Given the description of an element on the screen output the (x, y) to click on. 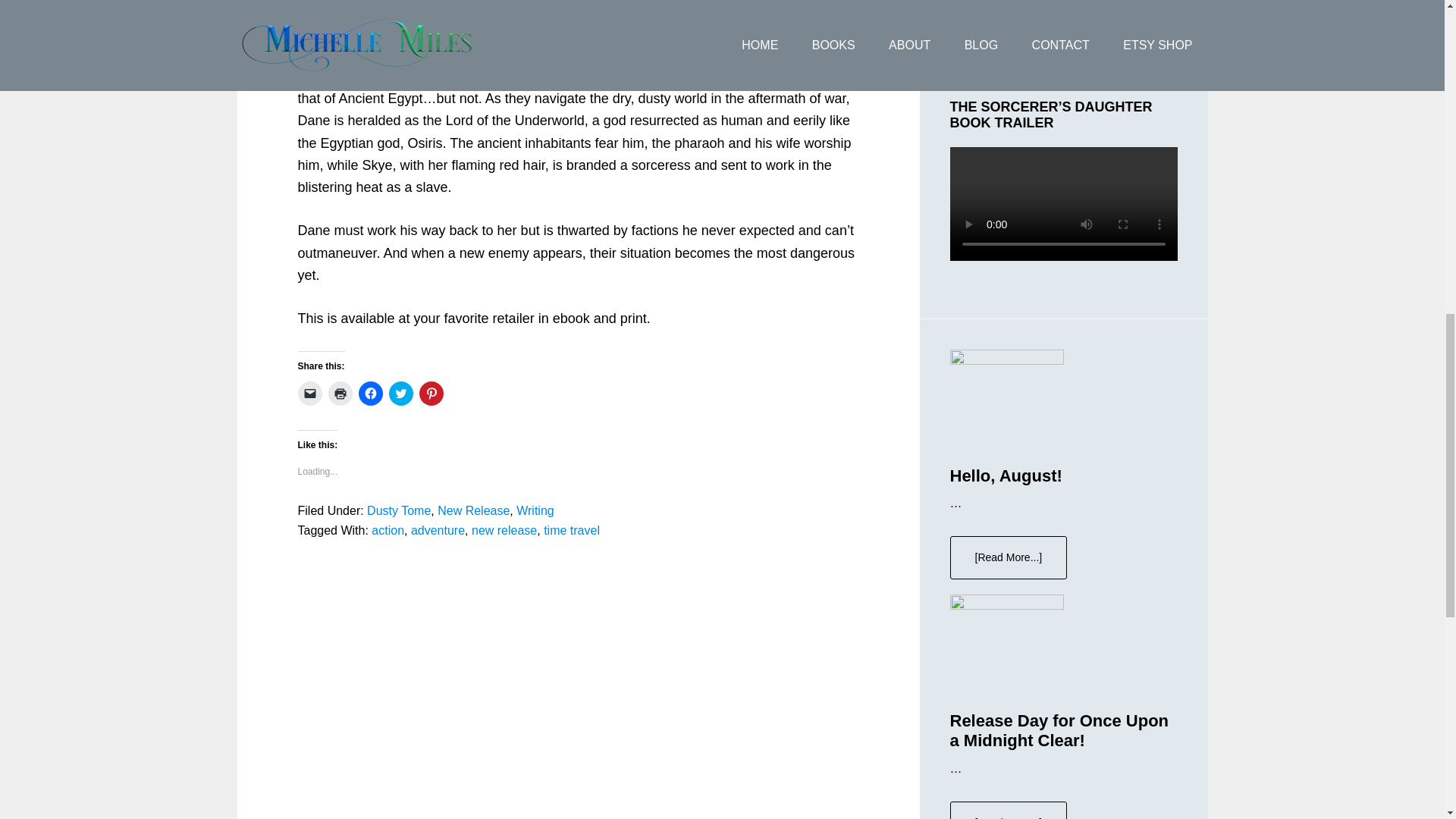
Writing (535, 510)
New Release (473, 510)
Dusty Tome (398, 510)
adventure (437, 530)
Click to print (339, 393)
Click to share on Pinterest (430, 393)
new release (504, 530)
action (387, 530)
Click to share on Facebook (369, 393)
Click to email a link to a friend (309, 393)
